Given the description of an element on the screen output the (x, y) to click on. 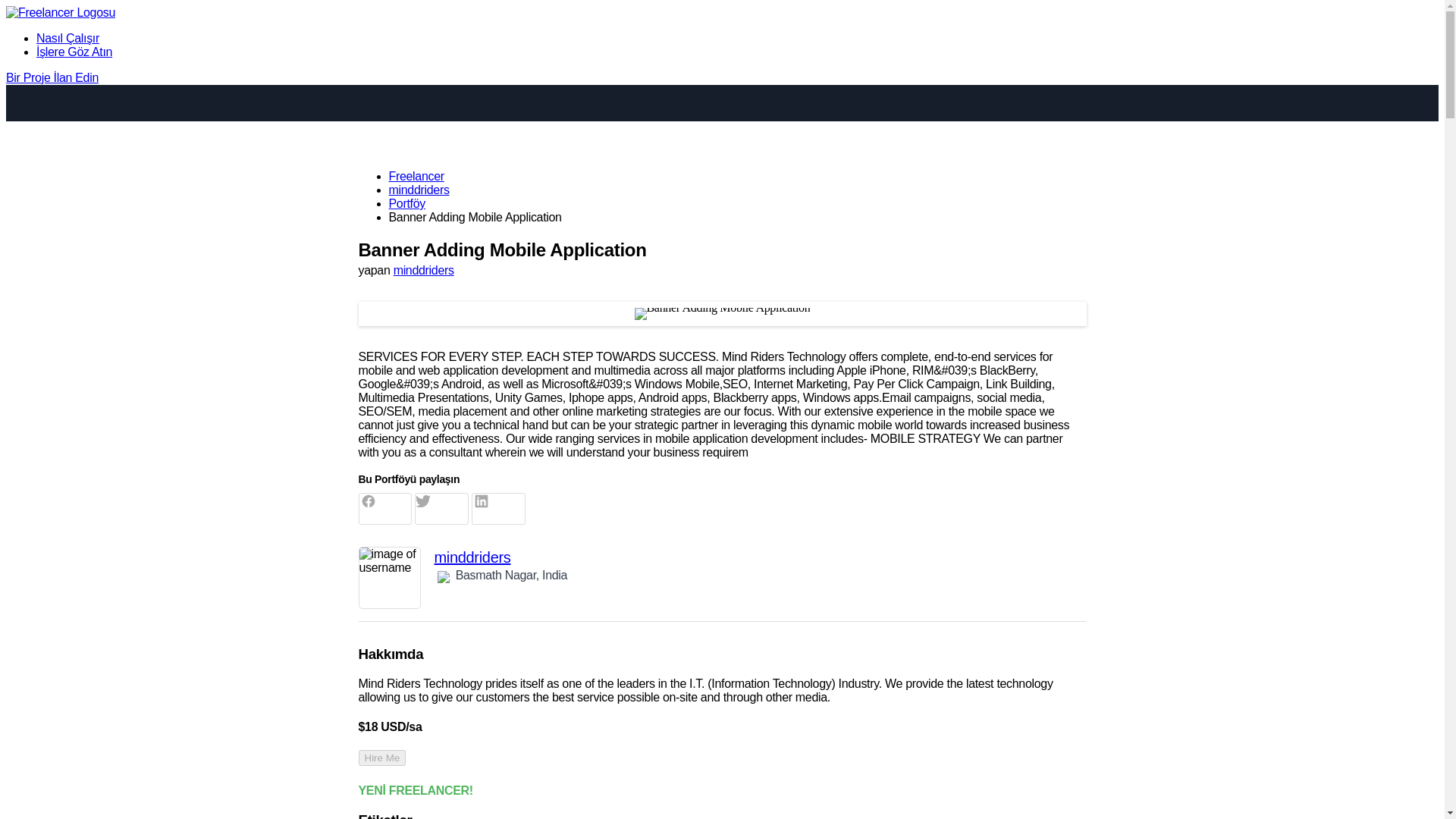
minddriders (759, 556)
Freelancer (416, 175)
Hire Me (382, 757)
minddriders (423, 269)
minddriders (418, 189)
